Given the description of an element on the screen output the (x, y) to click on. 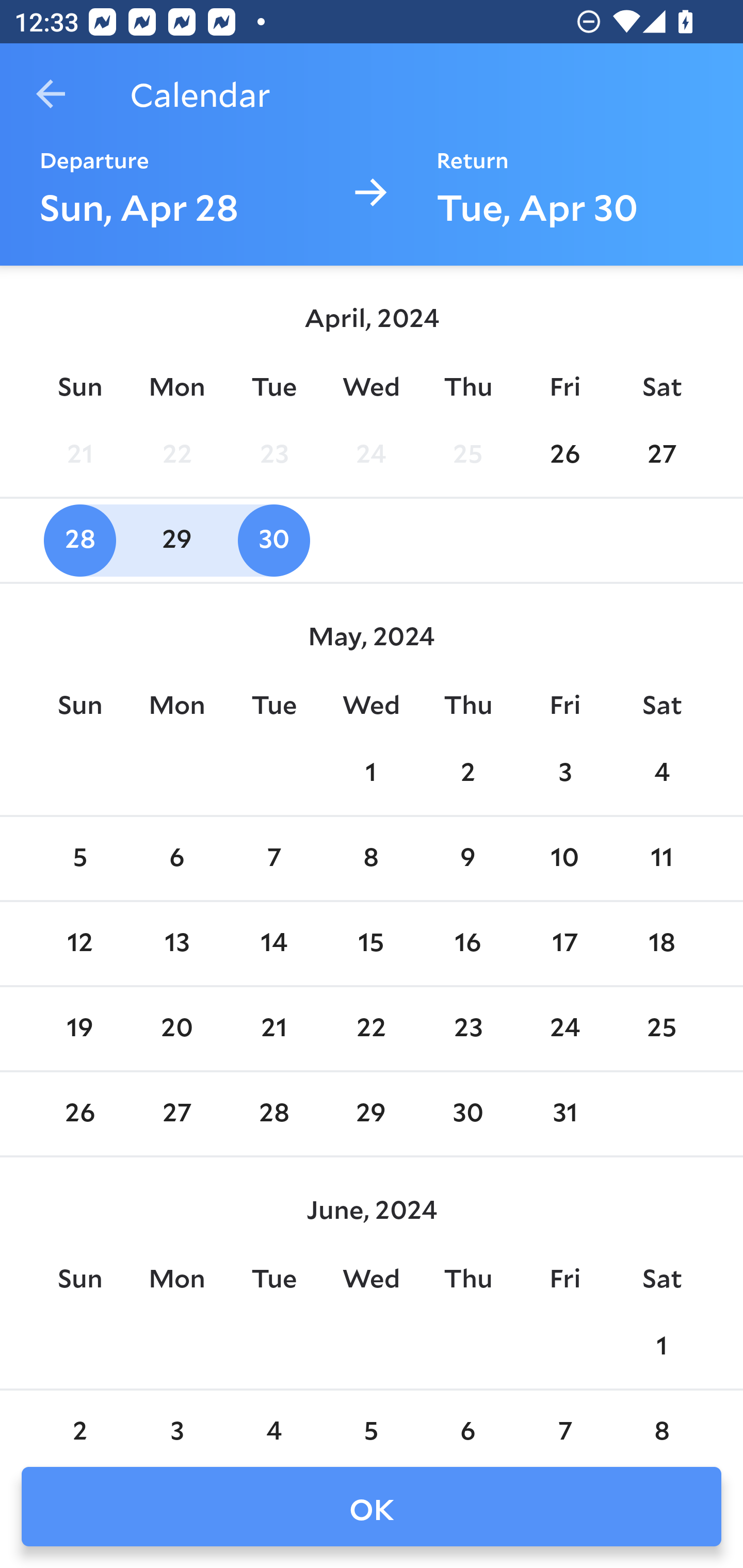
Navigate up (50, 93)
21 (79, 454)
22 (177, 454)
23 (273, 454)
24 (371, 454)
25 (467, 454)
26 (565, 454)
27 (661, 454)
28 (79, 540)
29 (177, 540)
30 (273, 540)
1 (371, 772)
2 (467, 772)
3 (565, 772)
4 (661, 772)
5 (79, 859)
6 (177, 859)
7 (273, 859)
8 (371, 859)
9 (467, 859)
10 (565, 859)
11 (661, 859)
12 (79, 943)
13 (177, 943)
14 (273, 943)
15 (371, 943)
16 (467, 943)
17 (565, 943)
18 (661, 943)
19 (79, 1028)
20 (177, 1028)
21 (273, 1028)
22 (371, 1028)
23 (467, 1028)
24 (565, 1028)
25 (661, 1028)
26 (79, 1114)
27 (177, 1114)
28 (273, 1114)
29 (371, 1114)
30 (467, 1114)
31 (565, 1114)
1 (661, 1346)
2 (79, 1420)
3 (177, 1420)
4 (273, 1420)
5 (371, 1420)
6 (467, 1420)
7 (565, 1420)
8 (661, 1420)
OK (371, 1506)
